Given the description of an element on the screen output the (x, y) to click on. 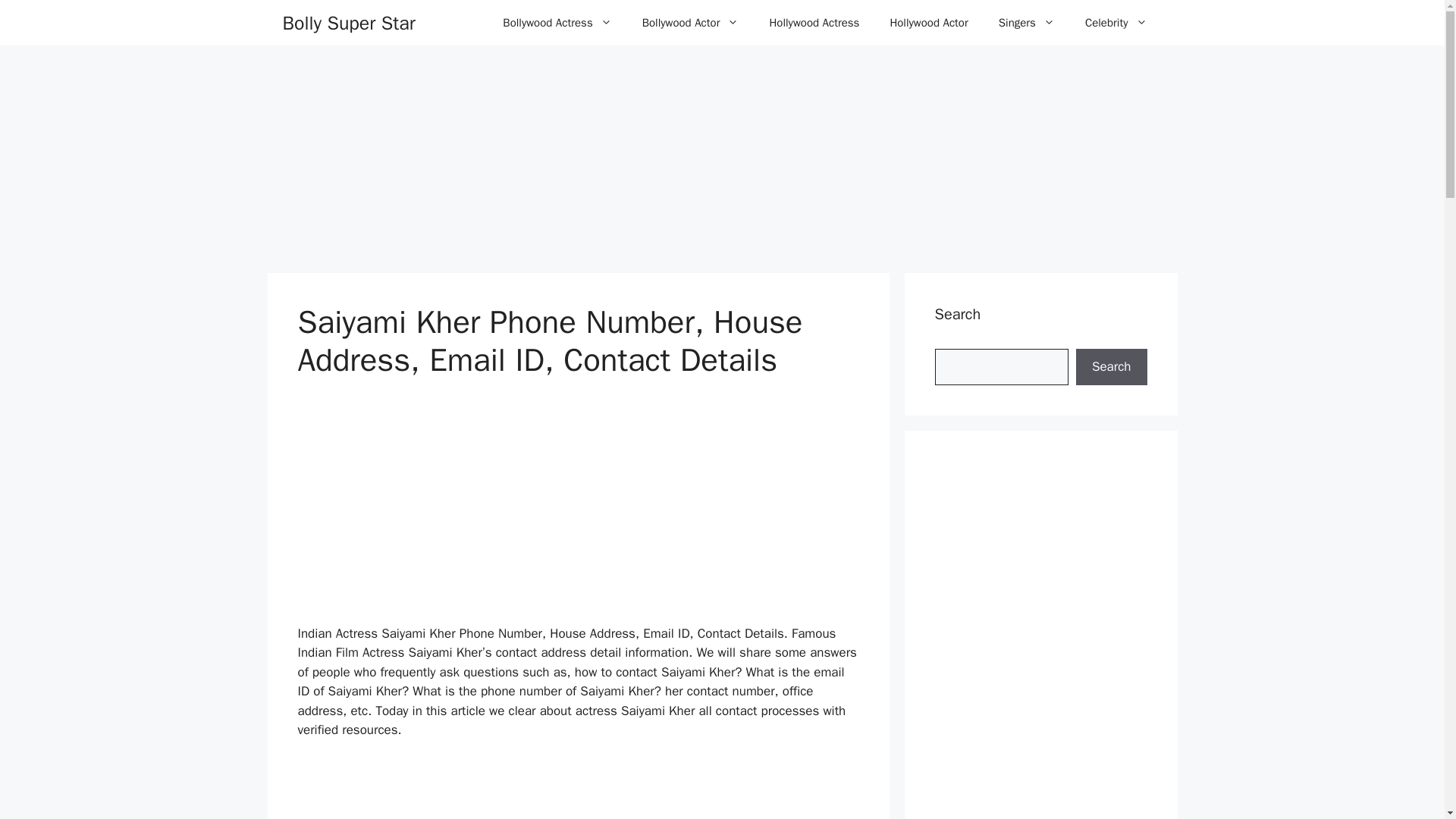
Hollywood Actress (814, 22)
Celebrity (1115, 22)
Bollywood Actress (556, 22)
Bollywood Actor (690, 22)
Hollywood Actor (928, 22)
Bolly Super Star (348, 22)
Singers (1027, 22)
